Given the description of an element on the screen output the (x, y) to click on. 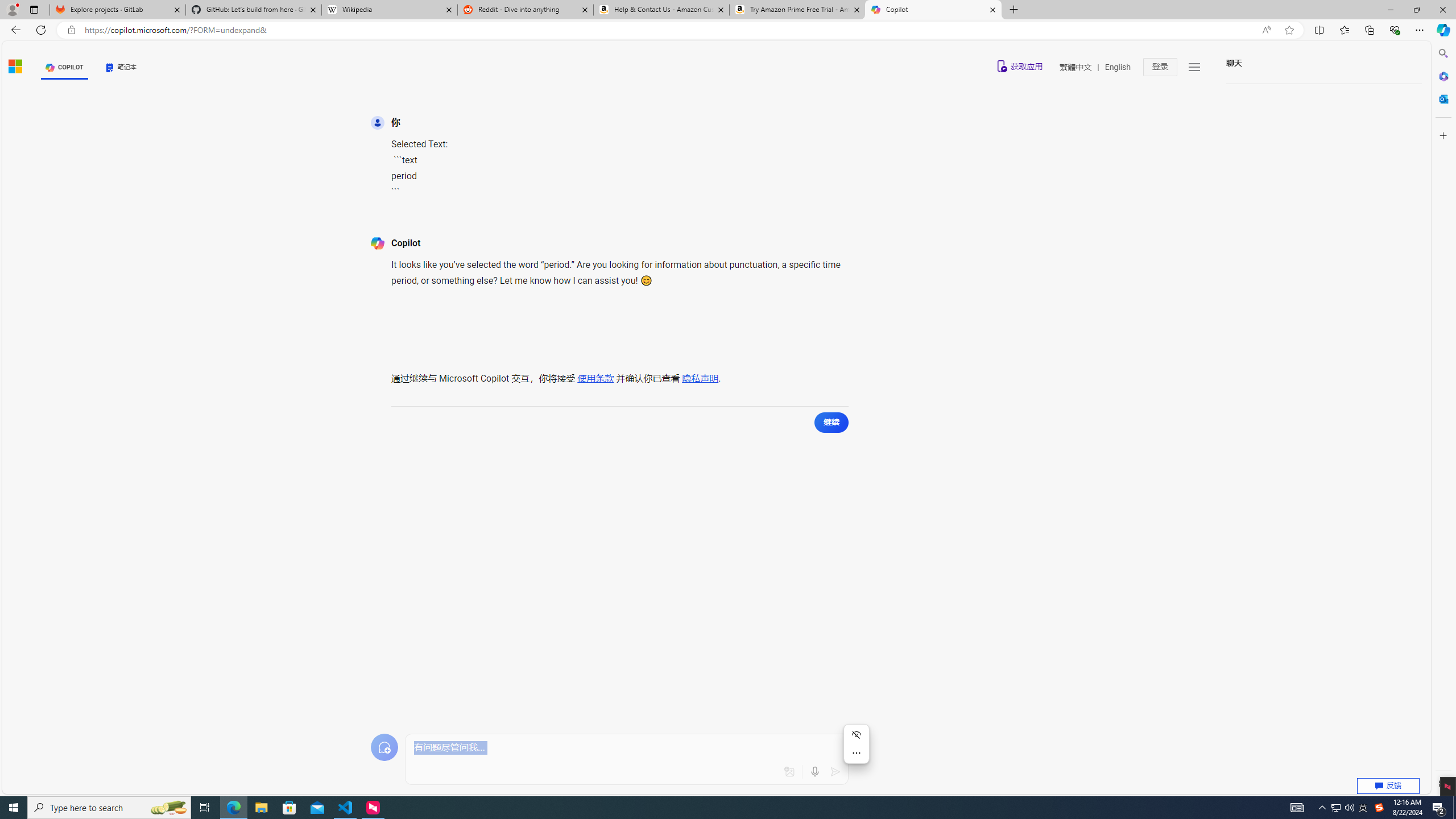
Try Amazon Prime Free Trial - Amazon Customer Service (797, 9)
More actions (856, 752)
